Given the description of an element on the screen output the (x, y) to click on. 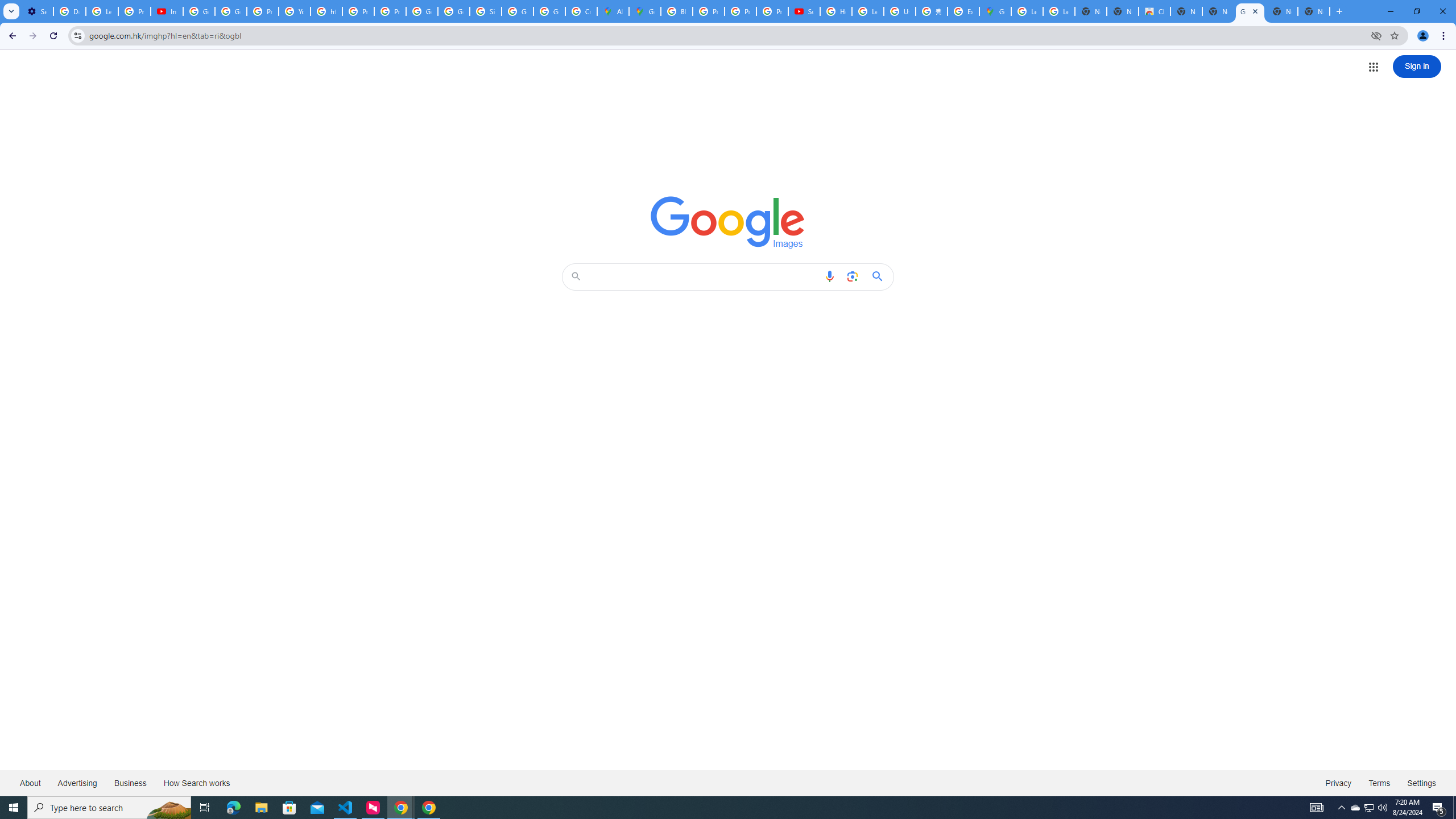
Learn how to find your photos - Google Photos Help (101, 11)
https://scholar.google.com/ (326, 11)
Chrome Web Store (1154, 11)
YouTube (294, 11)
Privacy Help Center - Policies Help (358, 11)
New Tab (1313, 11)
Google Search (880, 276)
